Given the description of an element on the screen output the (x, y) to click on. 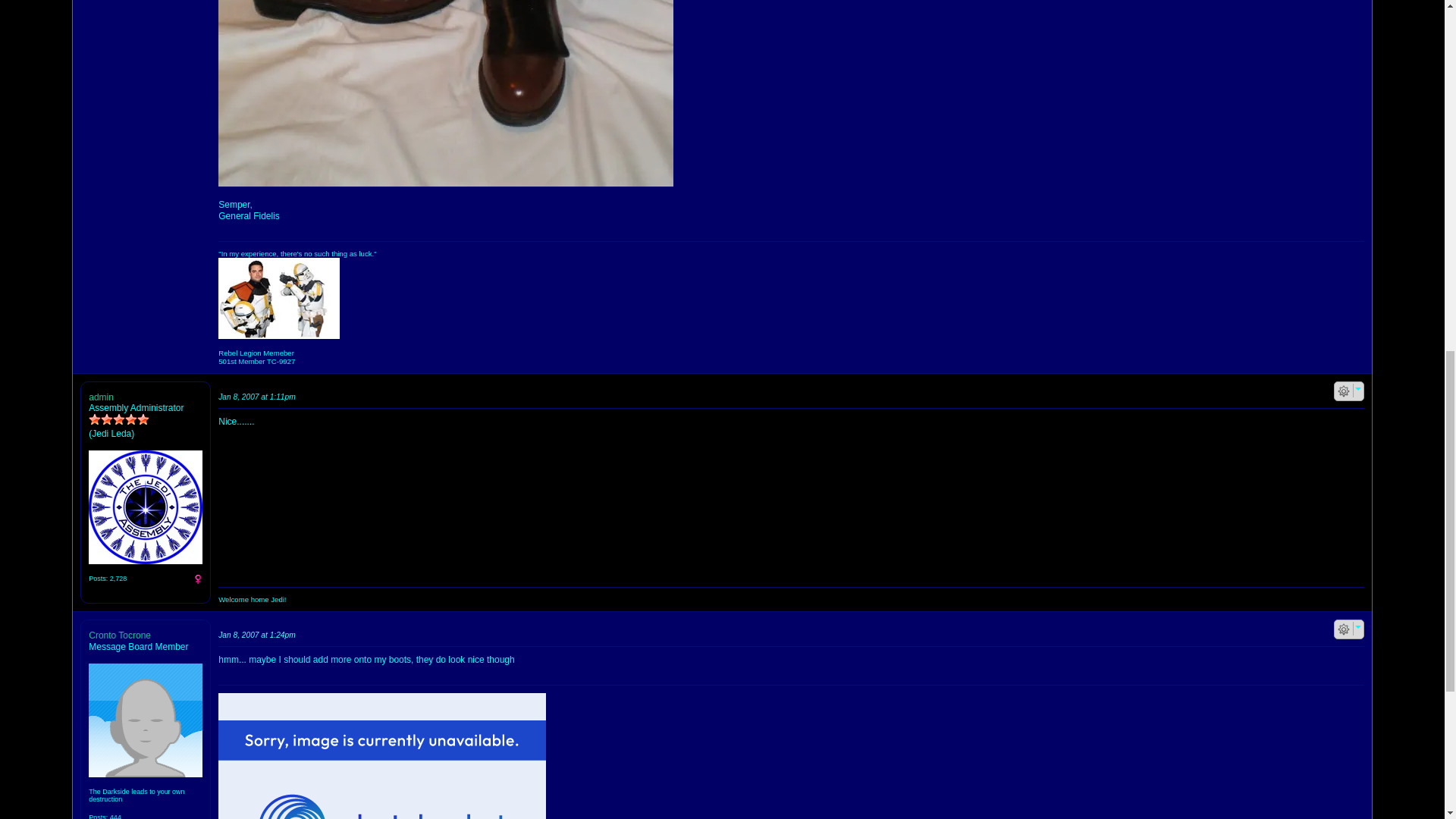
Post Options (1343, 390)
Post Options (1343, 629)
Cronto Tocrone (145, 720)
Female (197, 578)
admin (145, 507)
